Given the description of an element on the screen output the (x, y) to click on. 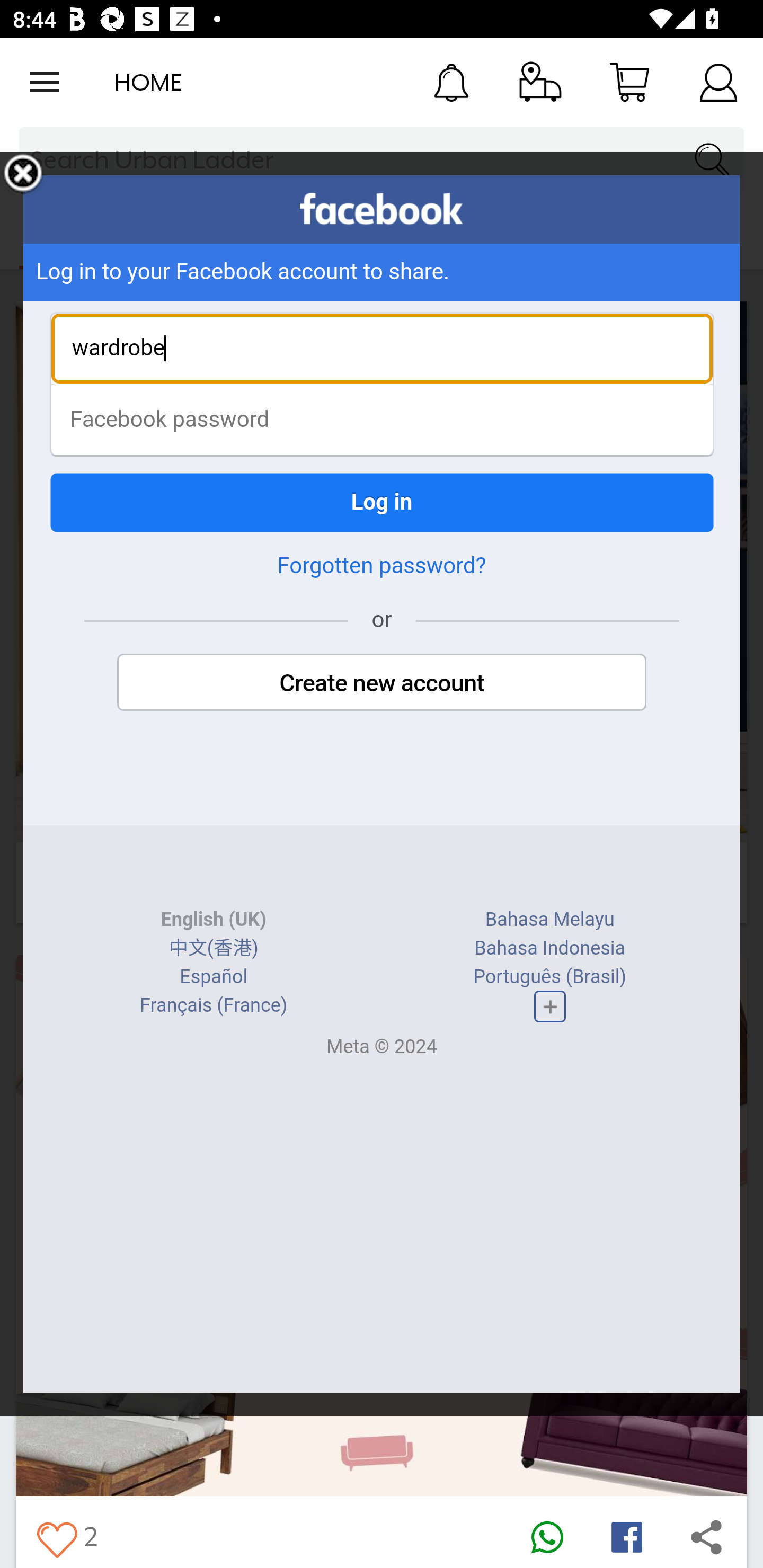
facebook (381, 208)
wardrobe (381, 348)
Log in (381, 502)
Forgotten password? (381, 564)
Create new account (381, 681)
Bahasa Melayu (549, 919)
中文(香港) (212, 947)
Bahasa Indonesia (549, 947)
Español (213, 977)
Português (Brasil) (550, 977)
Complete list of languages (548, 1006)
Français (France) (213, 1005)
